Given the description of an element on the screen output the (x, y) to click on. 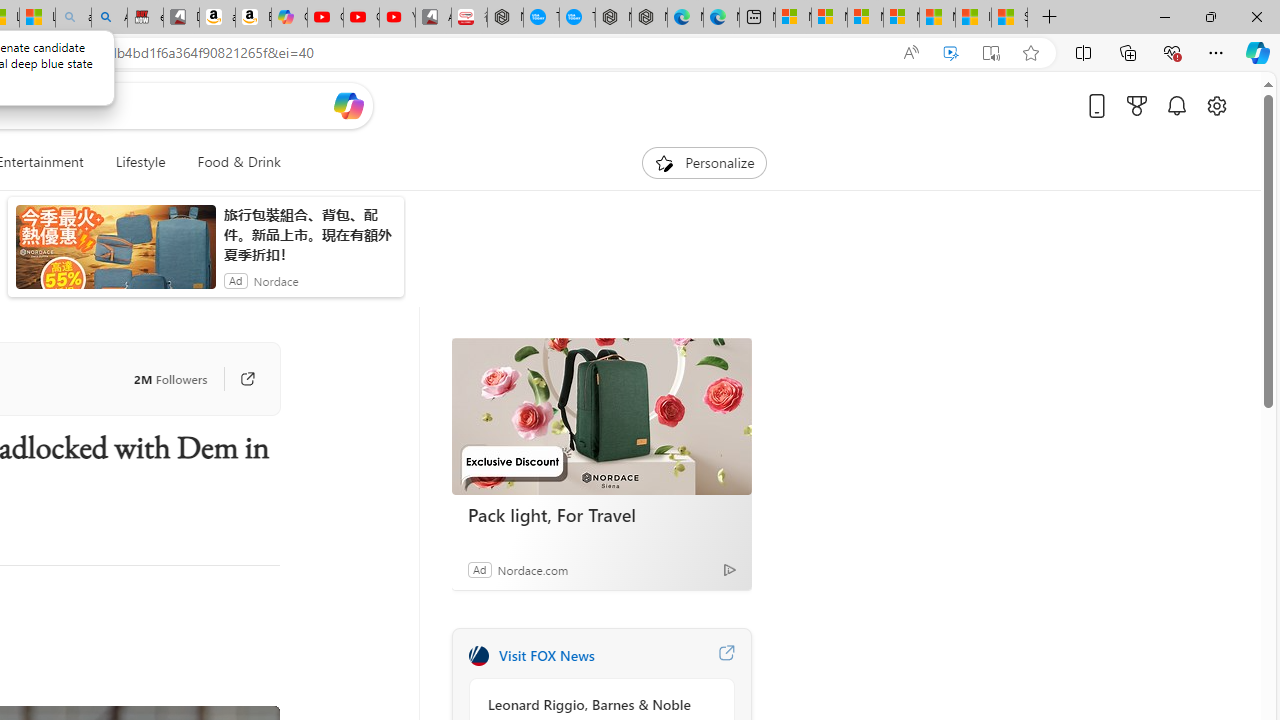
Microsoft account | Microsoft Account Privacy Settings (829, 17)
amazon.in/dp/B0CX59H5W7/?tag=gsmcom05-21 (217, 17)
Food & Drink (230, 162)
Personalize (703, 162)
All Cubot phones (433, 17)
I Gained 20 Pounds of Muscle in 30 Days! | Watch (973, 17)
